Given the description of an element on the screen output the (x, y) to click on. 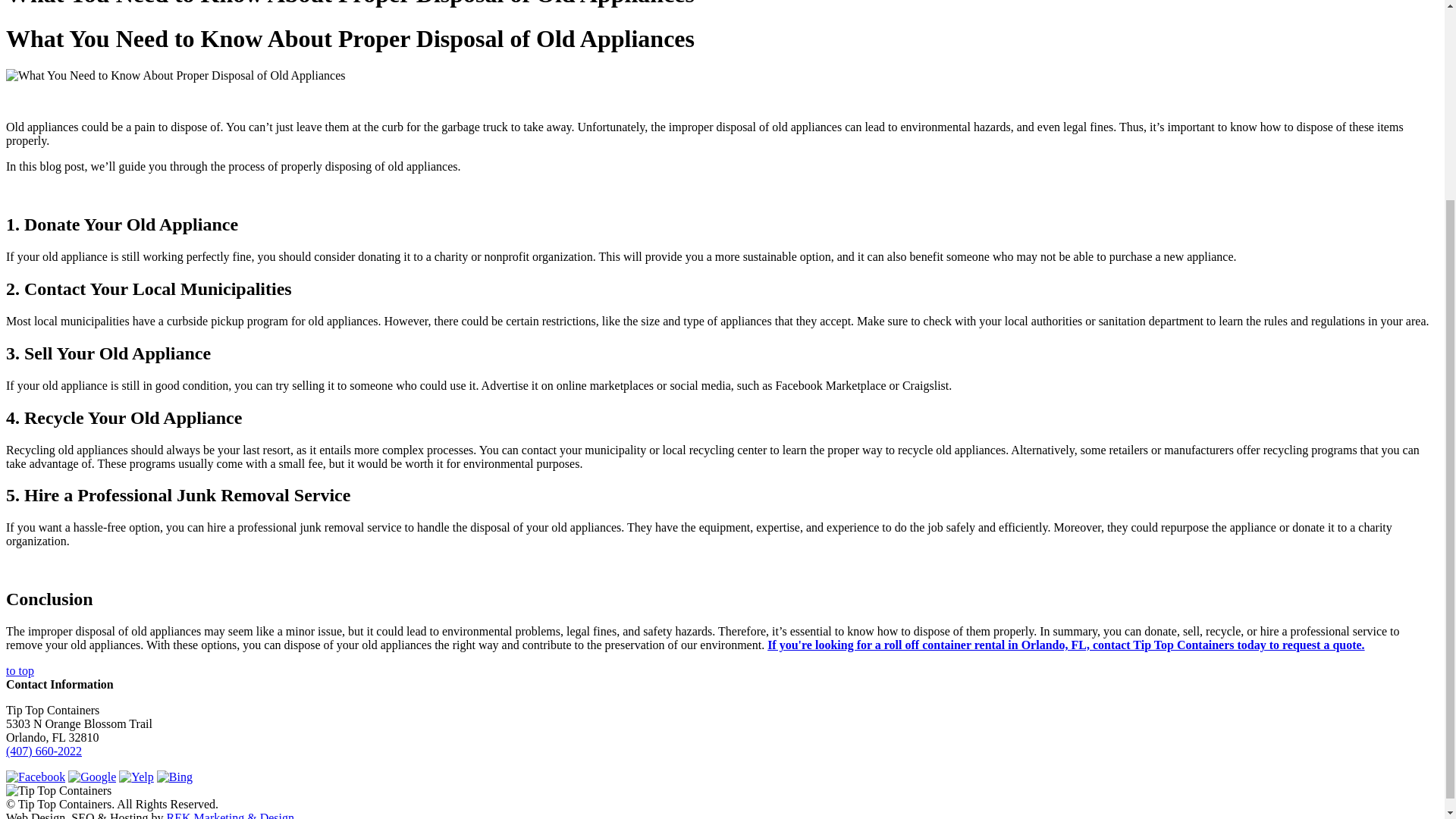
Tip Top Containers Google (92, 776)
Tip Top Containers Facebook (35, 776)
to top (19, 670)
Tip Top Containers Yelp (136, 776)
Tip Top Containers Bing (174, 776)
